Given the description of an element on the screen output the (x, y) to click on. 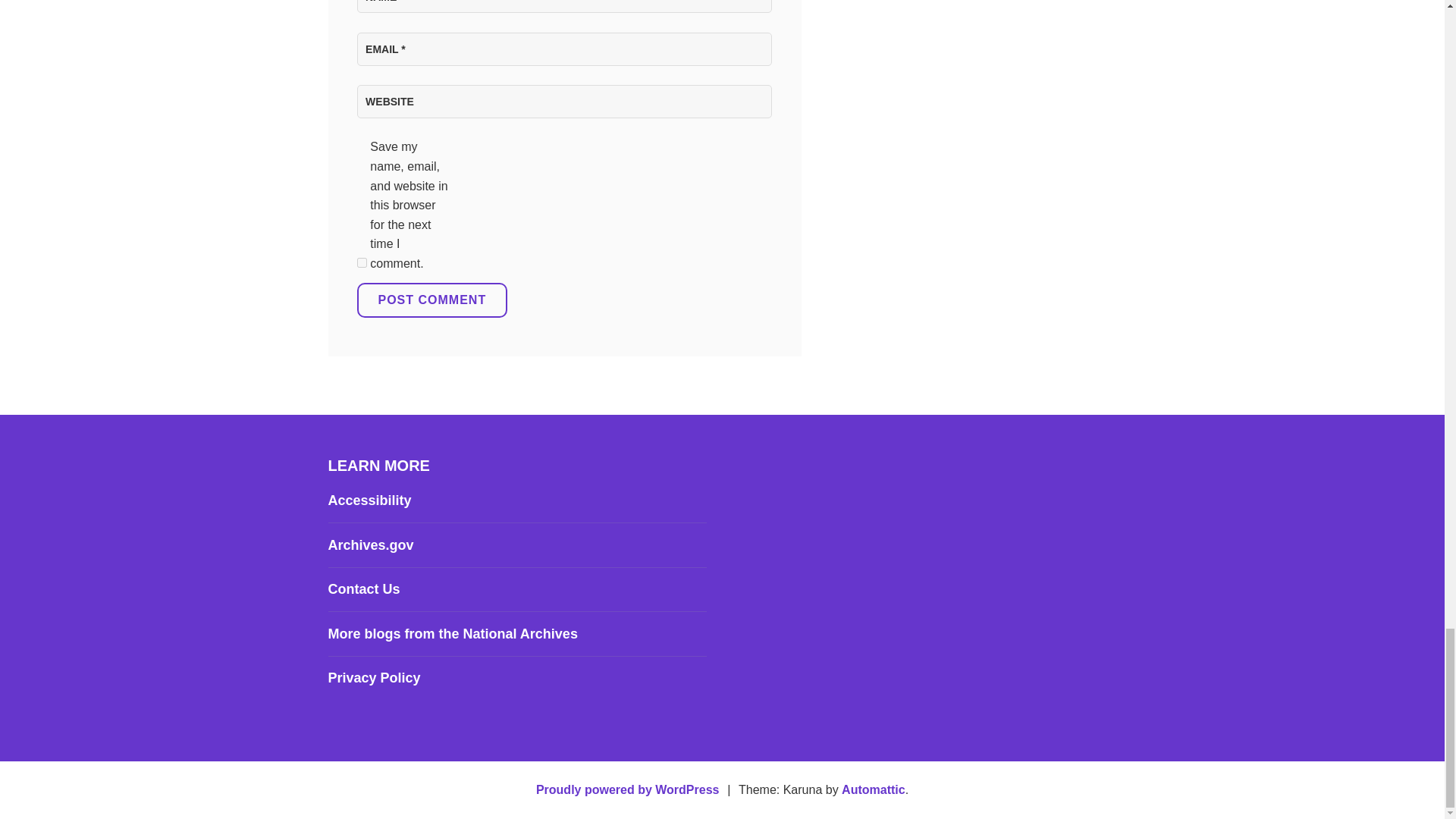
Post Comment (431, 299)
Contact information (362, 589)
Post Comment (431, 299)
U.S. National Archives Blogroll (451, 633)
Accessibility information on archives.gov (368, 500)
yes (361, 262)
National Archives privacy policy (373, 677)
